Given the description of an element on the screen output the (x, y) to click on. 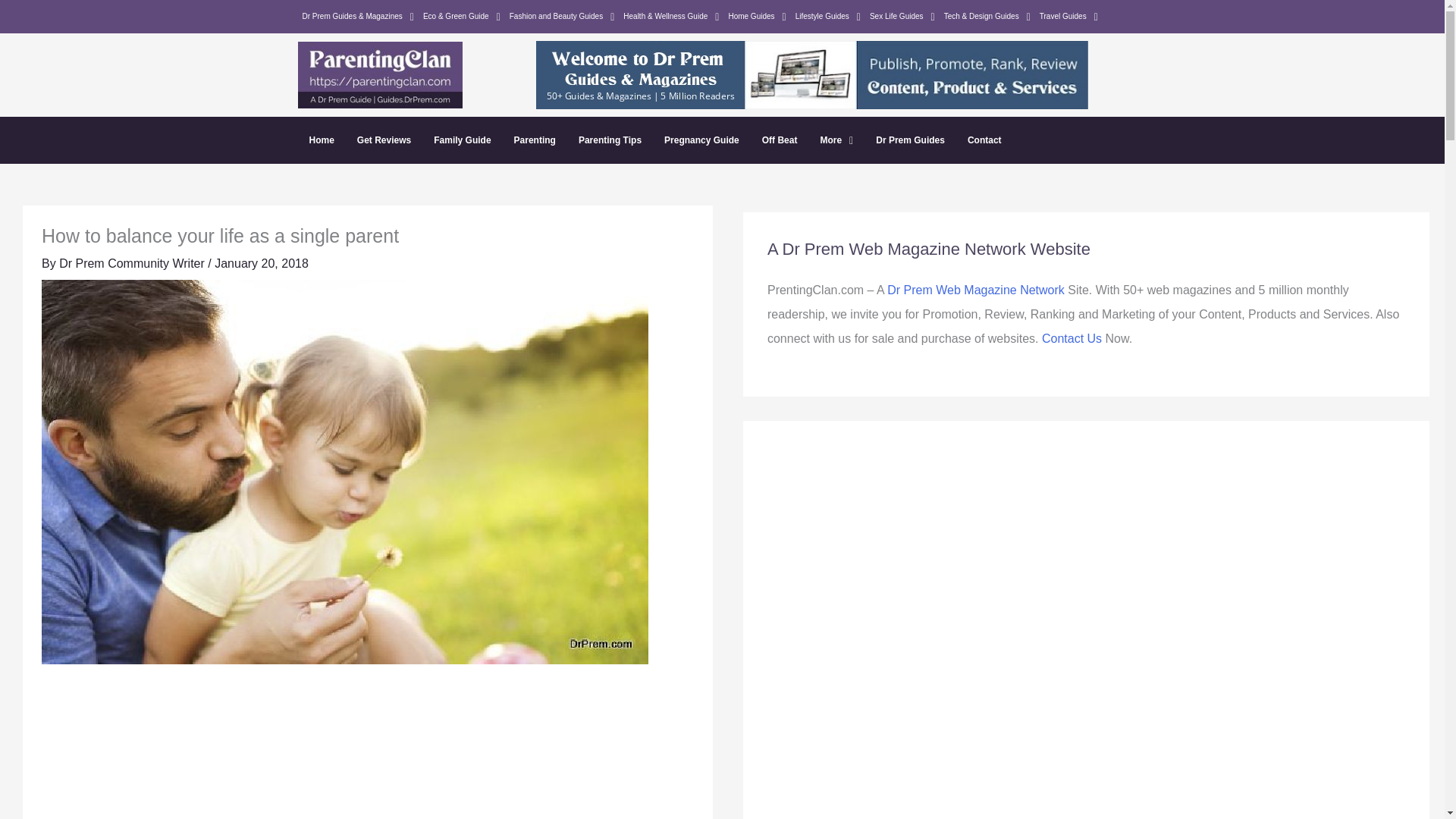
Lifestyle Guides (827, 16)
Home Guides (756, 16)
Fashion and Beauty Guides (562, 16)
View all posts by Dr Prem Community Writer (133, 263)
